Given the description of an element on the screen output the (x, y) to click on. 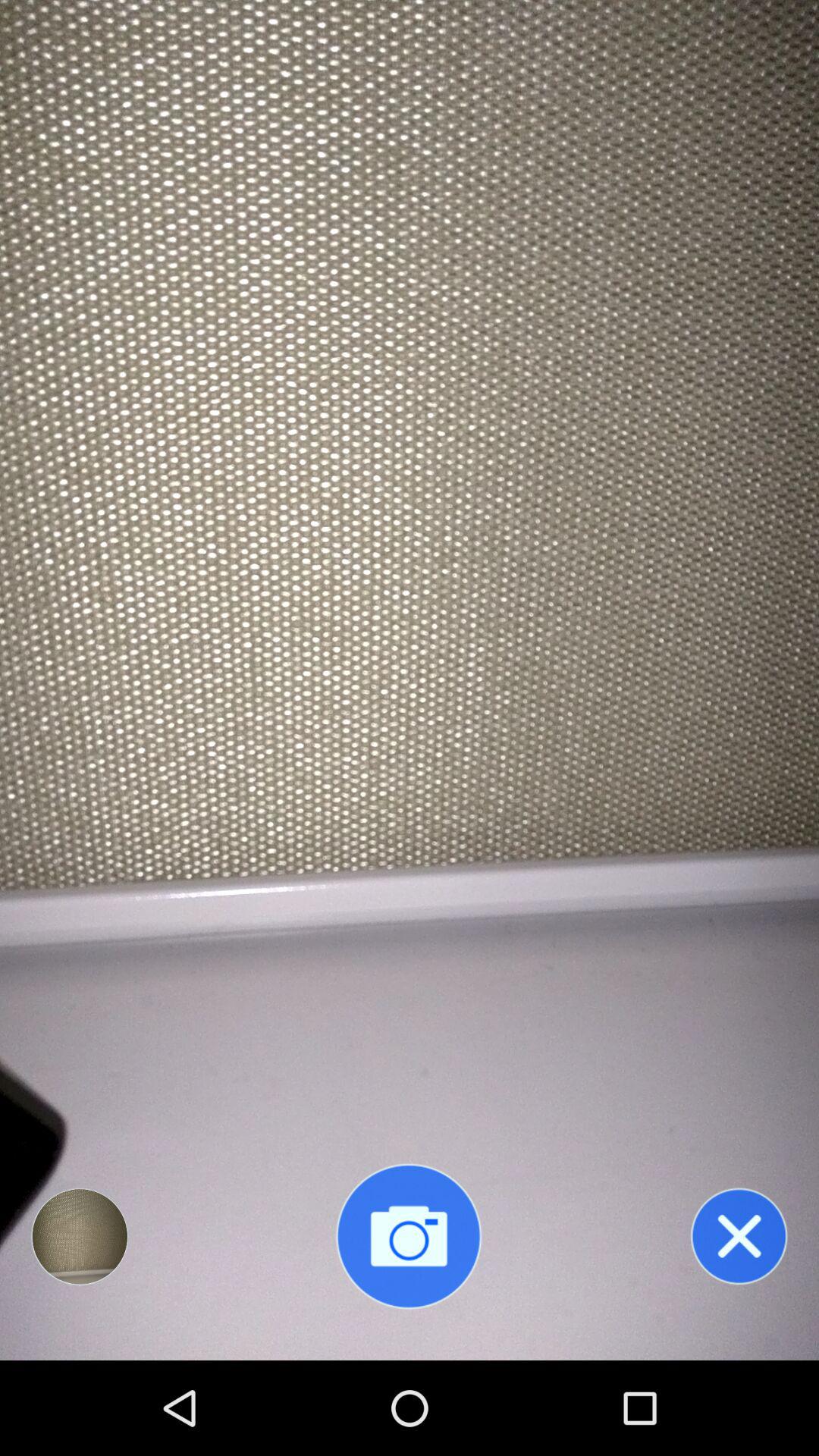
toggle the camera option (408, 1236)
